Given the description of an element on the screen output the (x, y) to click on. 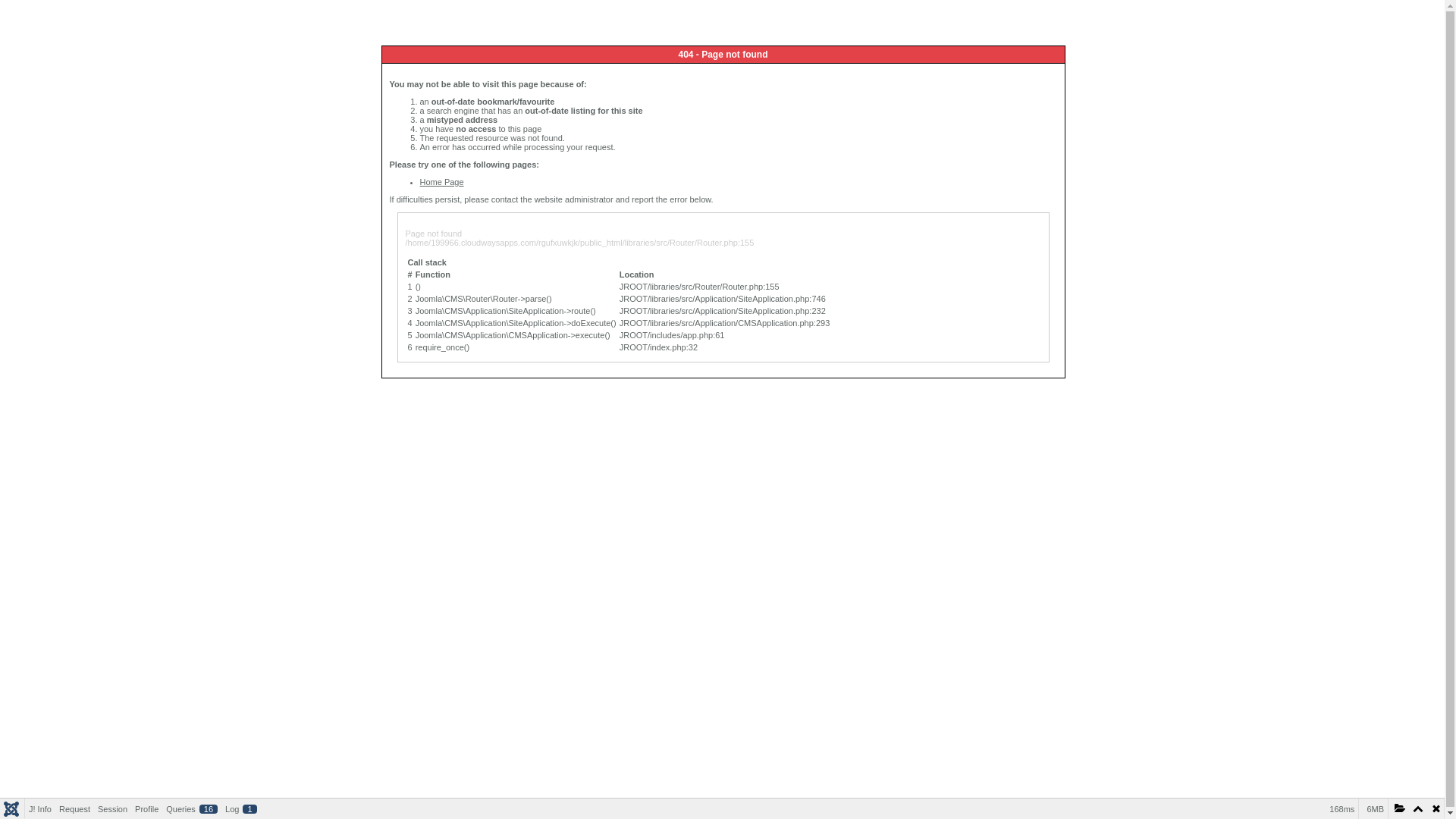
Home Page Element type: text (442, 181)
